Given the description of an element on the screen output the (x, y) to click on. 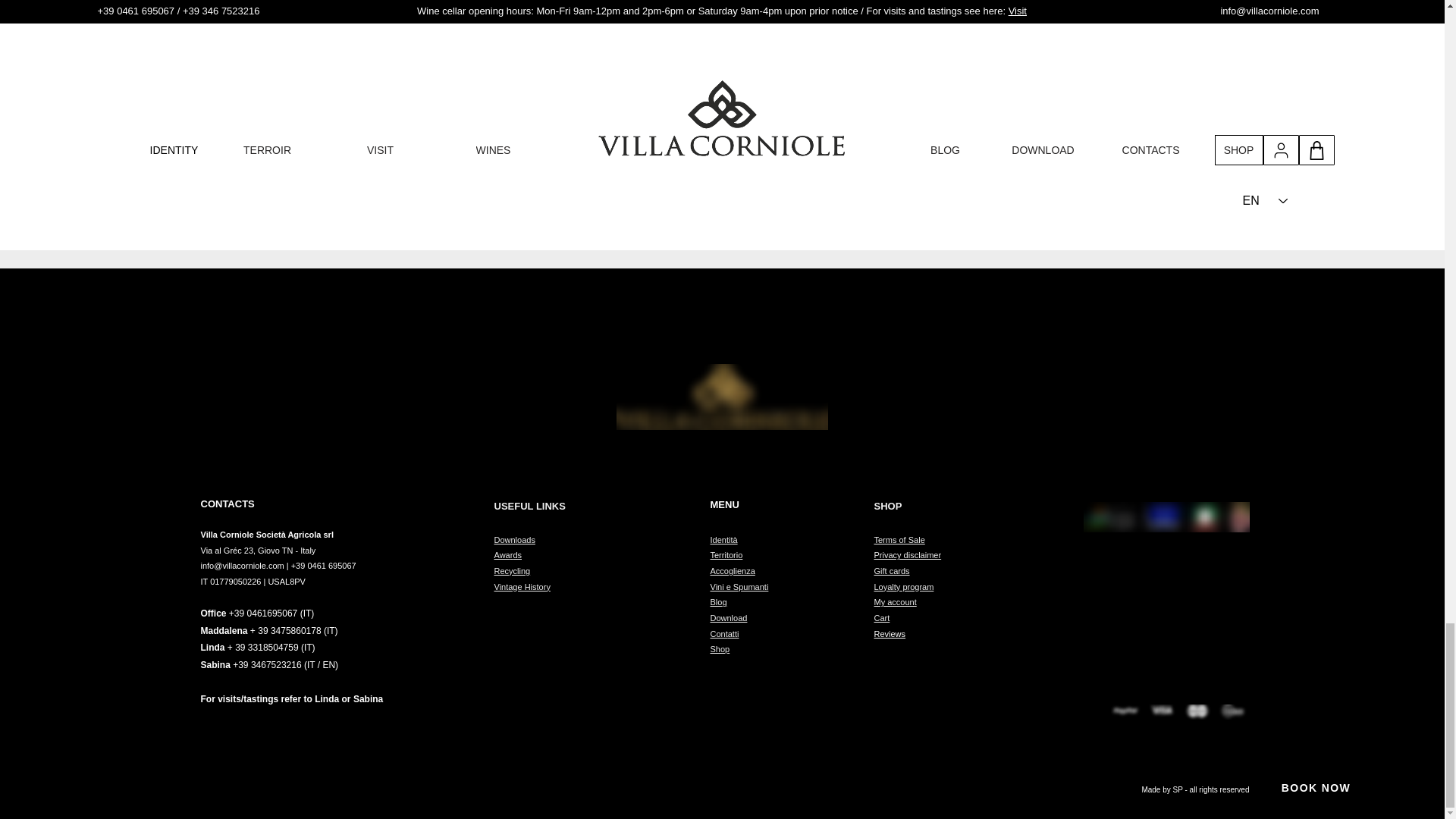
Download (728, 617)
Awards (508, 554)
Territorio (726, 554)
Vini e Spumanti (739, 586)
Recycling (513, 570)
Vintage History (522, 586)
Downloads (515, 539)
Blog (718, 601)
Contatti (724, 633)
Accoglienza (732, 570)
